Given the description of an element on the screen output the (x, y) to click on. 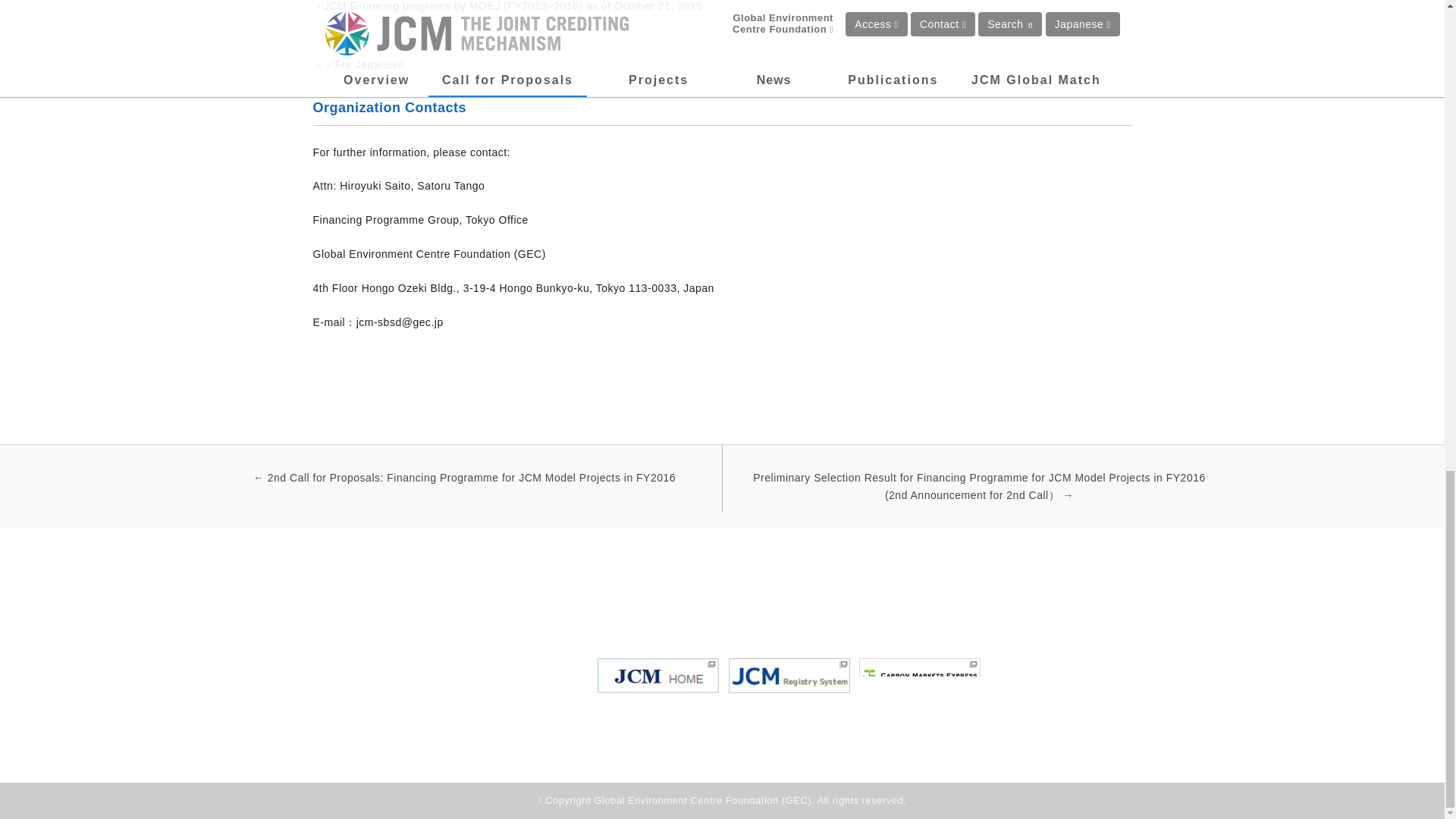
Call for Proposals (913, 594)
Contact (999, 594)
For Japanese (369, 64)
Projects (742, 594)
Publications (816, 594)
Home (613, 594)
Overview (675, 594)
